Given the description of an element on the screen output the (x, y) to click on. 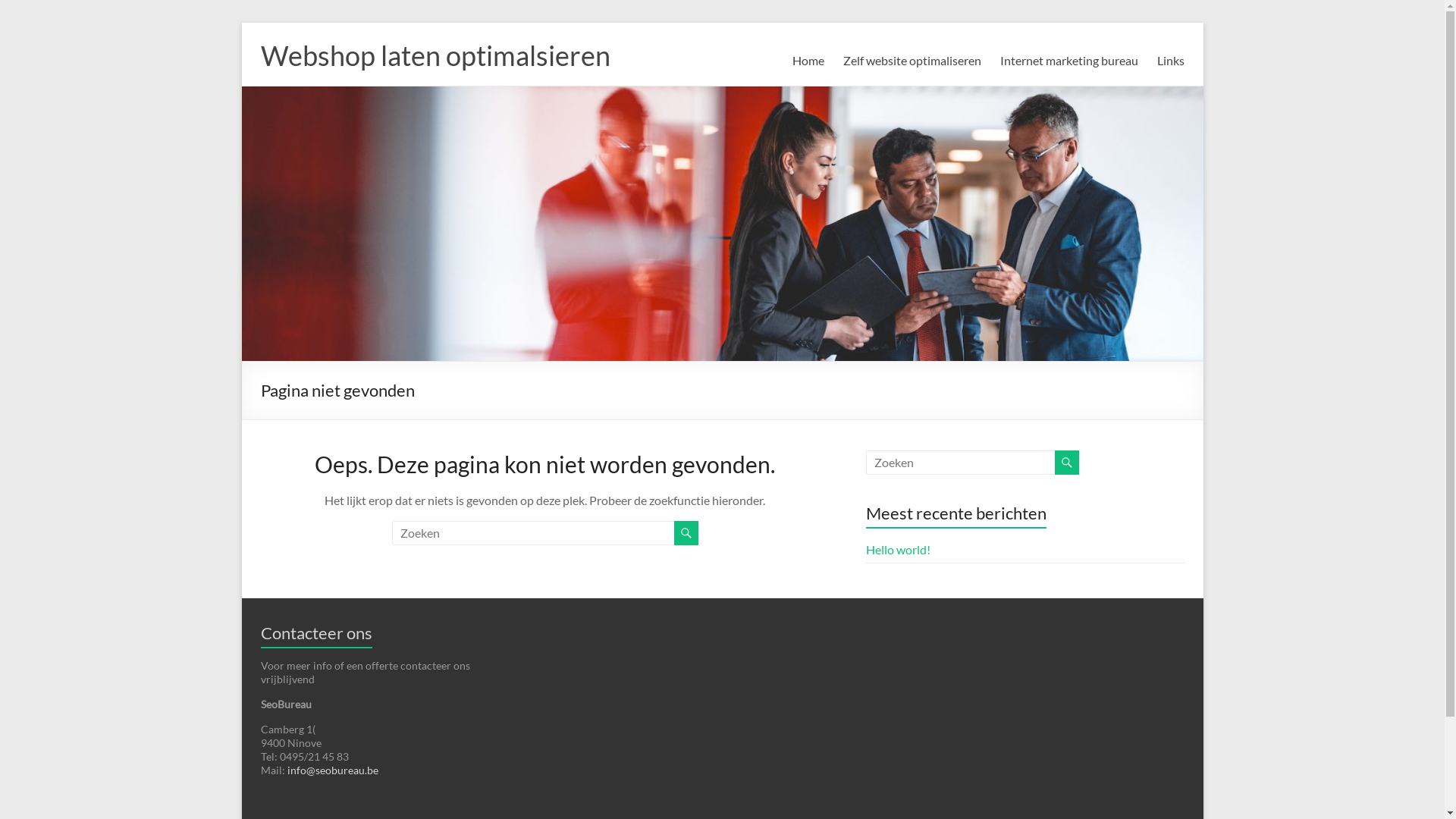
Internet marketing bureau Element type: text (1068, 60)
Hello world! Element type: text (898, 549)
Skip to content Element type: text (241, 21)
info@seobureau.be Element type: text (331, 769)
Links Element type: text (1170, 60)
Webshop laten optimalsieren Element type: text (435, 55)
Zelf website optimaliseren Element type: text (912, 60)
Home Element type: text (807, 60)
